Given the description of an element on the screen output the (x, y) to click on. 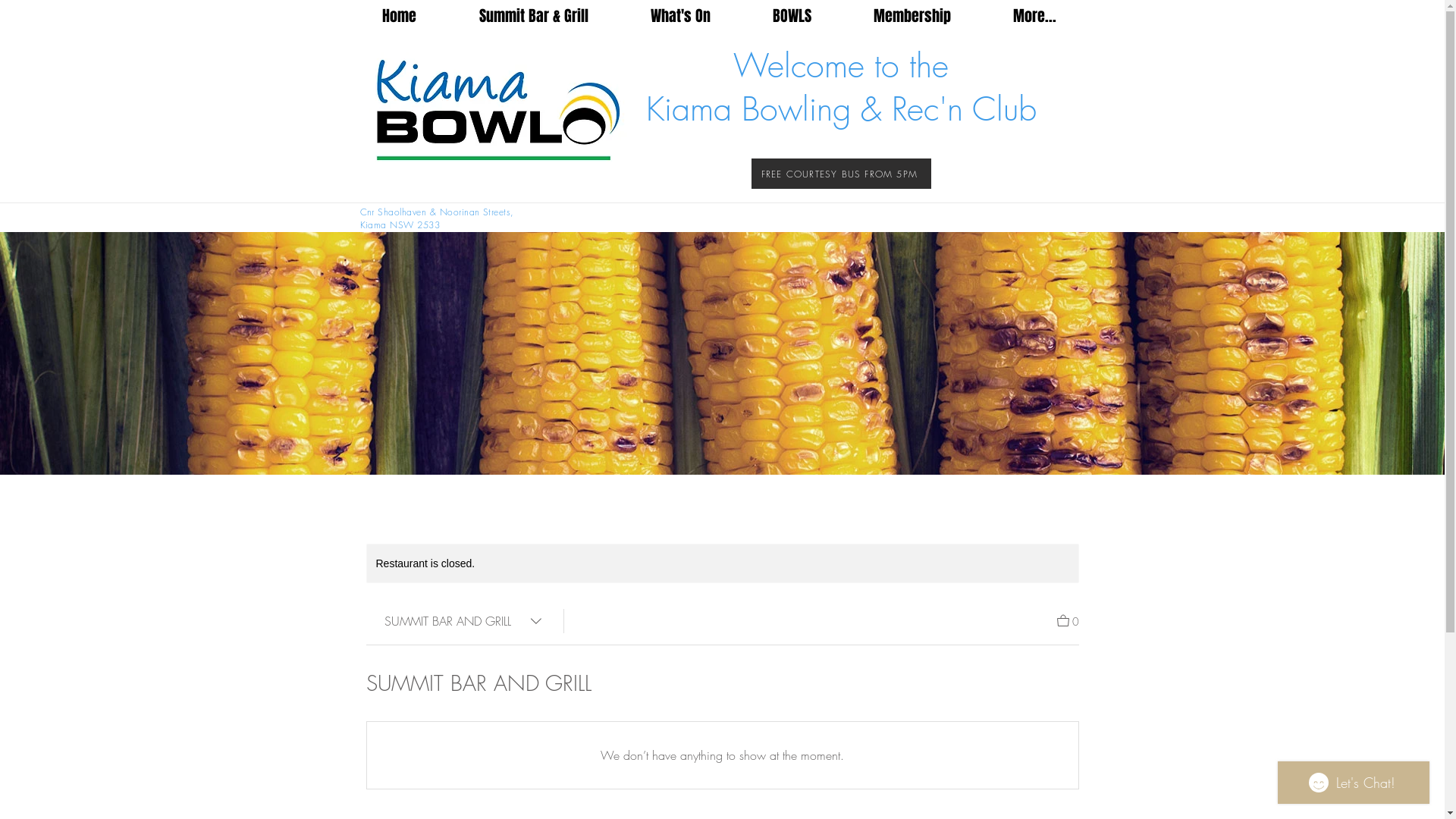
What's On Element type: text (679, 16)
Welcome to the
Kiama Bowling & Rec'n Club Element type: text (841, 86)
Summit Bar & Grill Element type: text (532, 16)
Home Element type: text (398, 16)
More... Element type: text (1033, 16)
Membership Element type: text (911, 16)
SUMMIT BAR AND GRILL Element type: text (463, 620)
BOWLS Element type: text (791, 16)
FREE COURTESY BUS FROM 5PM Element type: text (840, 173)
0 Element type: text (1068, 619)
Restaurant Social Bar Element type: hover (1041, 183)
